Given the description of an element on the screen output the (x, y) to click on. 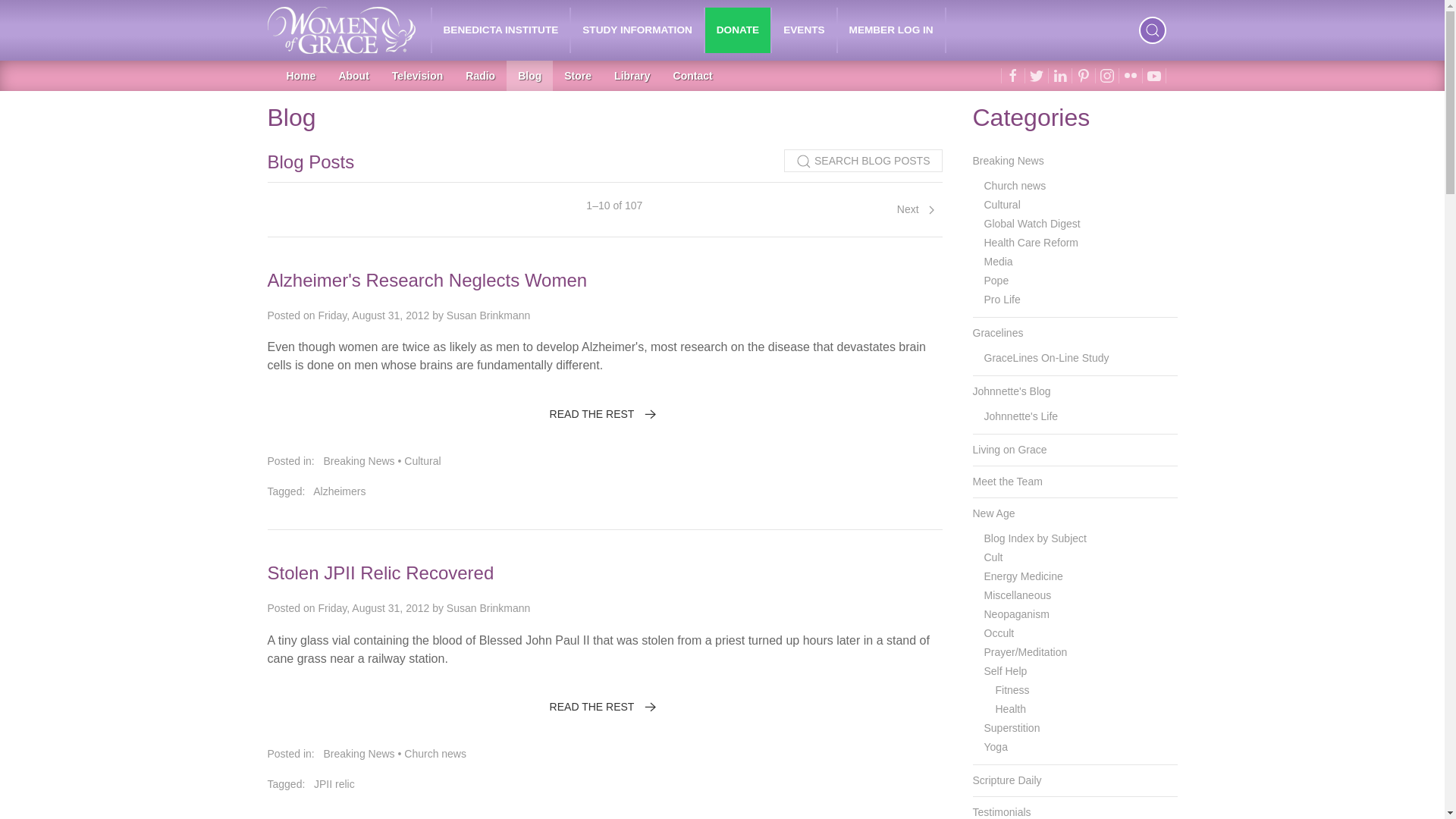
Cultural (422, 460)
Susan Brinkmann (488, 315)
Permalink to Stolen JPII Relic Recovered (379, 572)
Contact (692, 75)
11:30 am (373, 315)
BENEDICTA INSTITUTE (501, 30)
Friday, August 31, 2012 (373, 607)
Alzheimer's Research Neglects Women (426, 280)
Radio (480, 75)
11:20 am (373, 607)
